Given the description of an element on the screen output the (x, y) to click on. 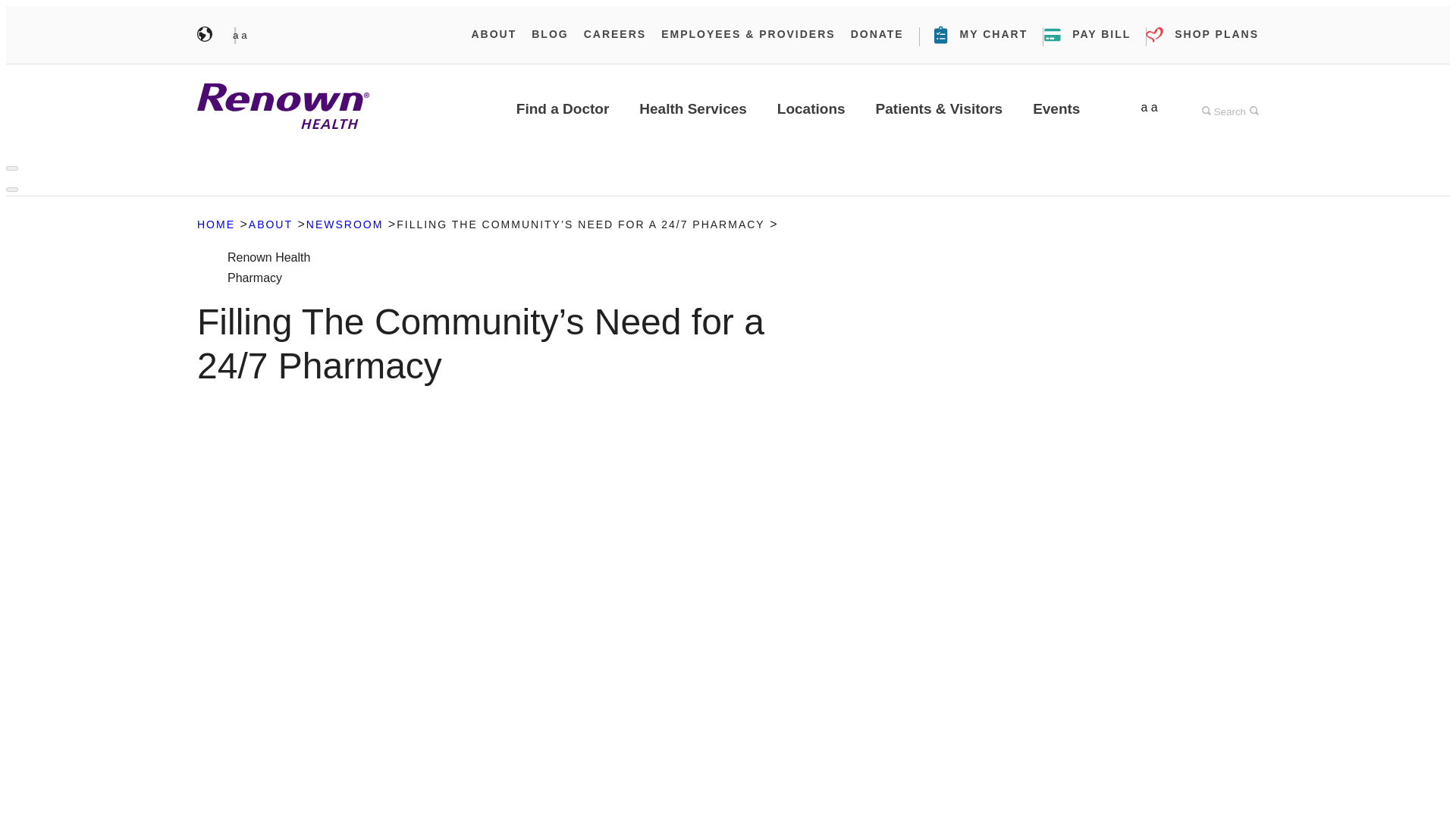
MY CHART (980, 33)
ABOUT (493, 33)
a a (246, 35)
BLOG (1230, 107)
Back to Renown Homepage (549, 33)
CAREERS (282, 109)
SHOP PLANS (614, 33)
Find a Doctor (1202, 33)
About (562, 108)
Health Services (270, 224)
Events (692, 108)
Newsroom (1056, 108)
DONATE (344, 224)
Locations (877, 33)
